Given the description of an element on the screen output the (x, y) to click on. 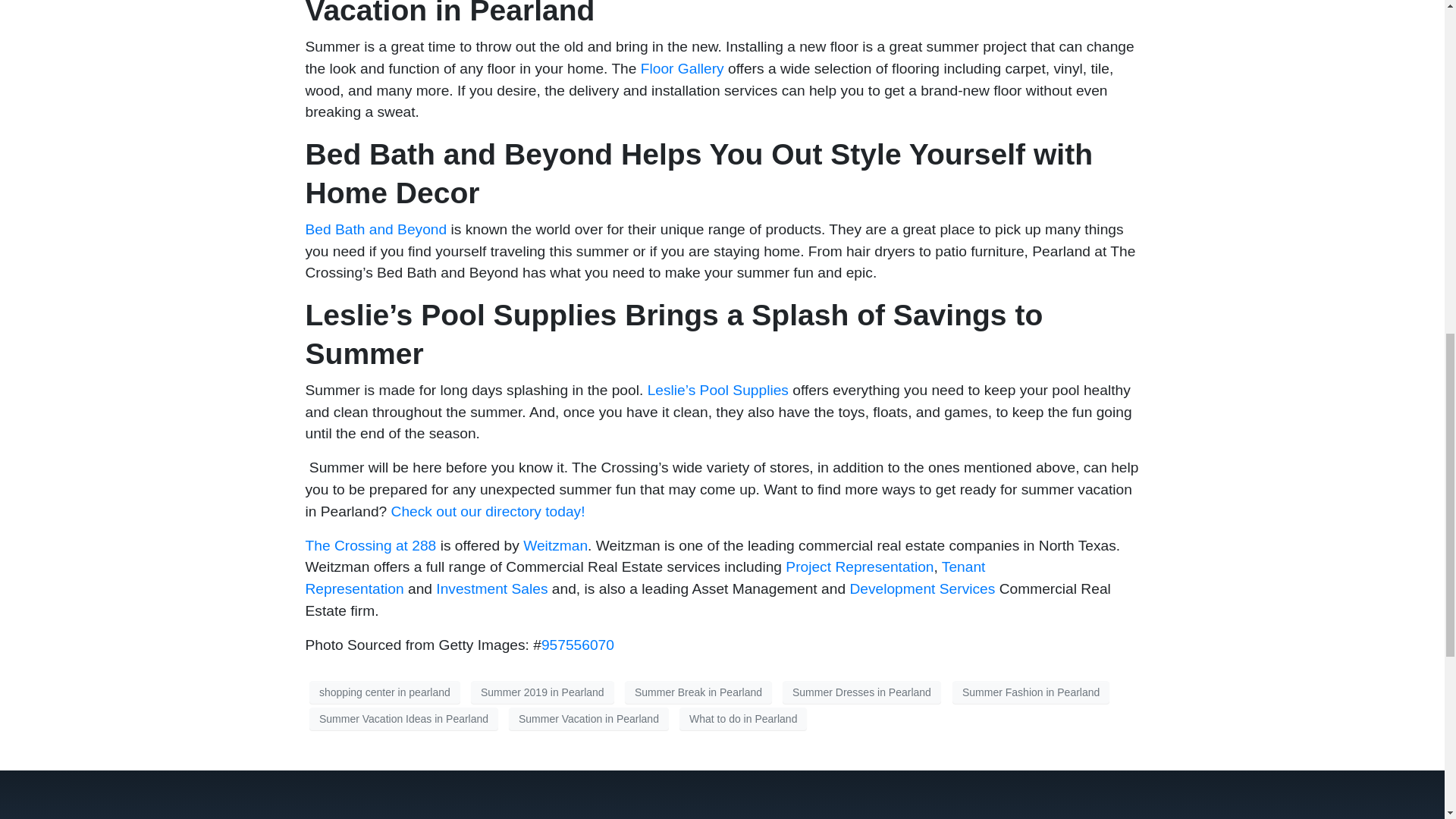
Summer Dresses in Pearland (861, 691)
Bed Bath and Beyond (375, 229)
Summer Break in Pearland (697, 691)
What to do in Pearland (742, 718)
957556070 (577, 644)
Investment Sales  (493, 588)
Weitzman (555, 545)
Tenant Representation (644, 577)
Summer Fashion in Pearland (1030, 691)
Floor Gallery (681, 68)
Summer Vacation in Pearland (588, 718)
Summer Vacation Ideas in Pearland (402, 718)
Development Services (921, 588)
Check out our directory today! (488, 511)
Summer 2019 in Pearland (542, 691)
